Given the description of an element on the screen output the (x, y) to click on. 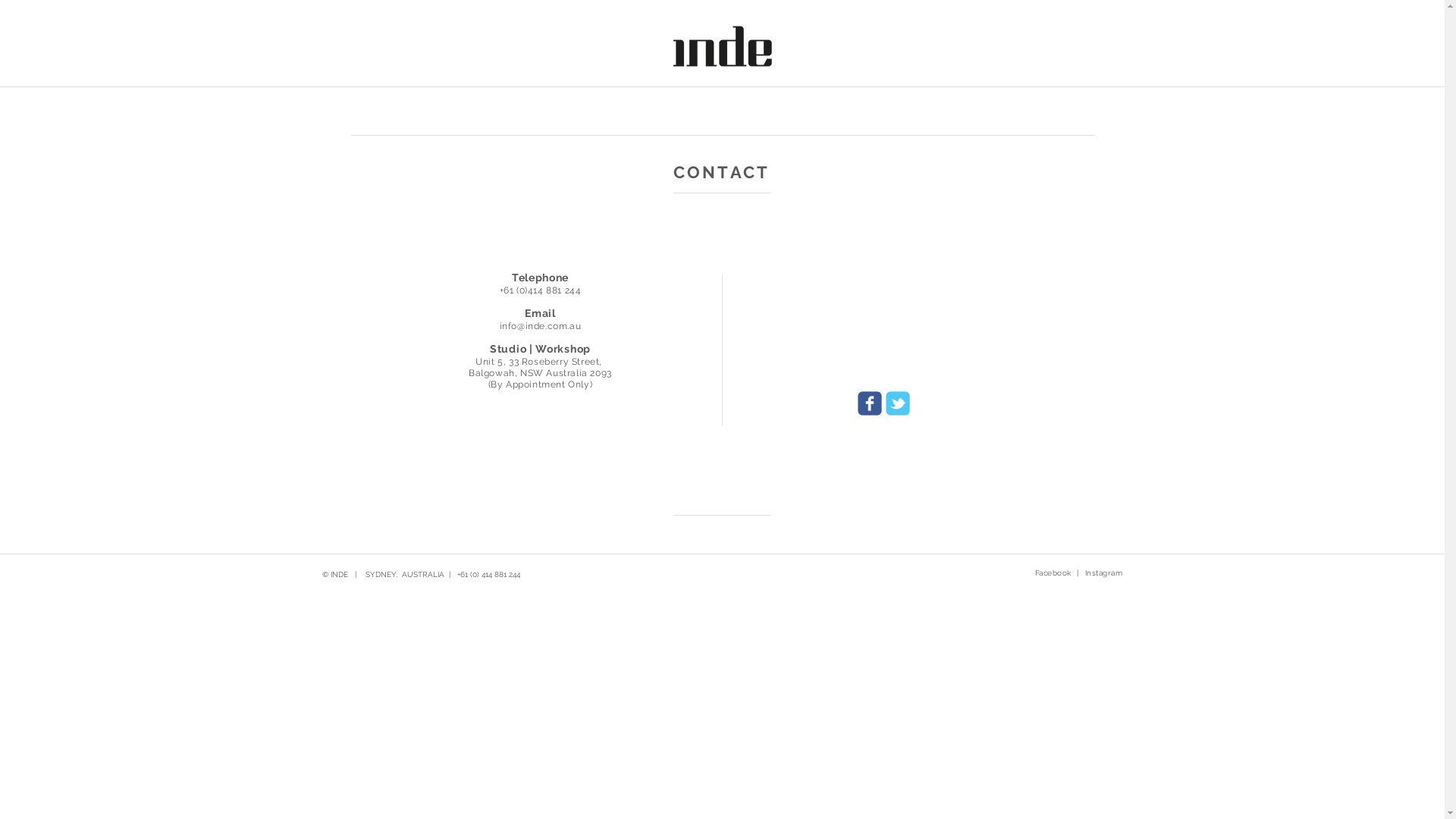
inde logo.png Element type: hover (722, 45)
Facebook  | Element type: text (1056, 573)
i Element type: text (500, 325)
